Given the description of an element on the screen output the (x, y) to click on. 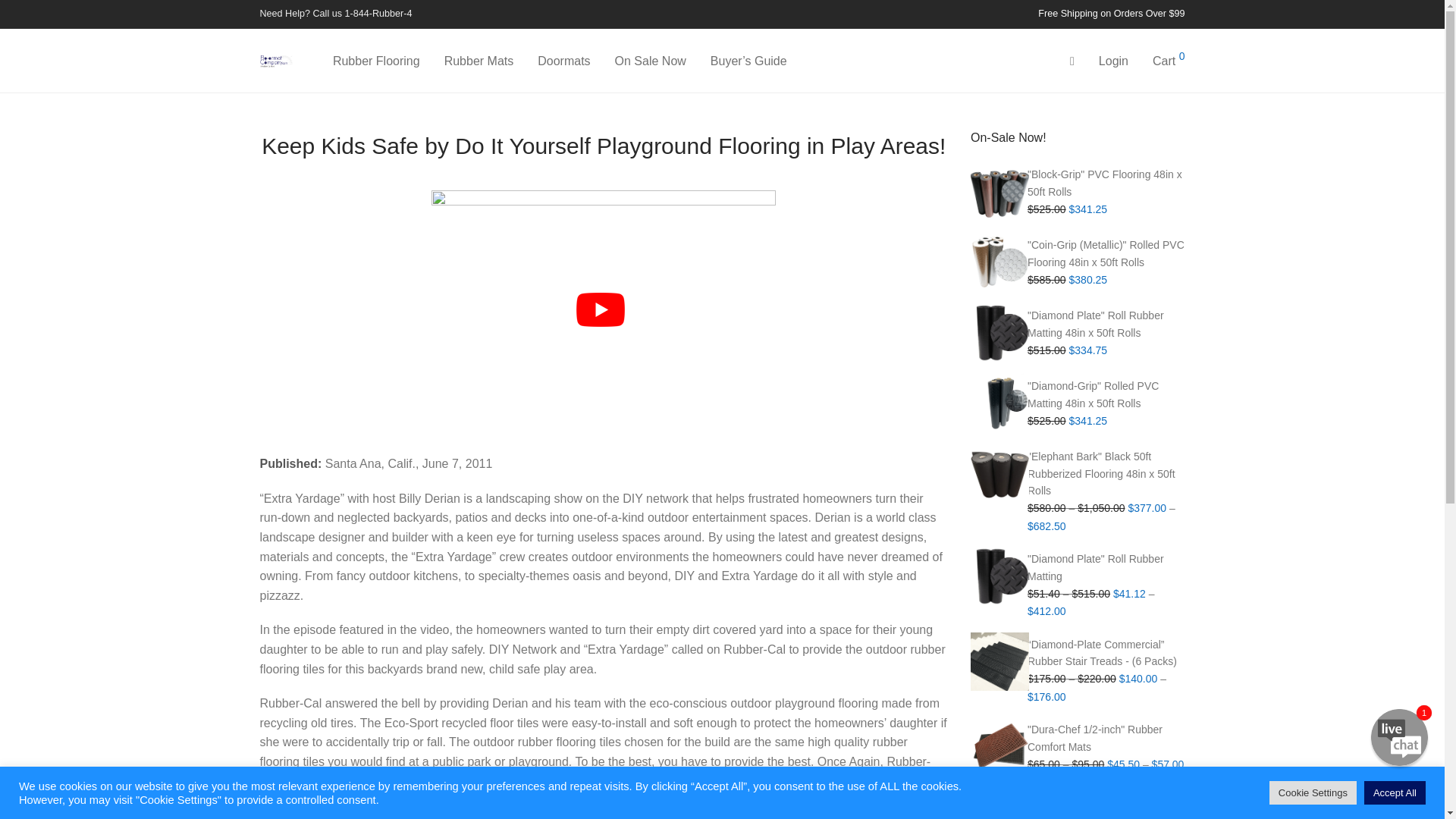
Doormats (563, 61)
Rubber Mats (478, 61)
Rubber Flooring (376, 61)
Re:amaze Chat (1298, 605)
1-844-Rubber-4 (378, 13)
